Given the description of an element on the screen output the (x, y) to click on. 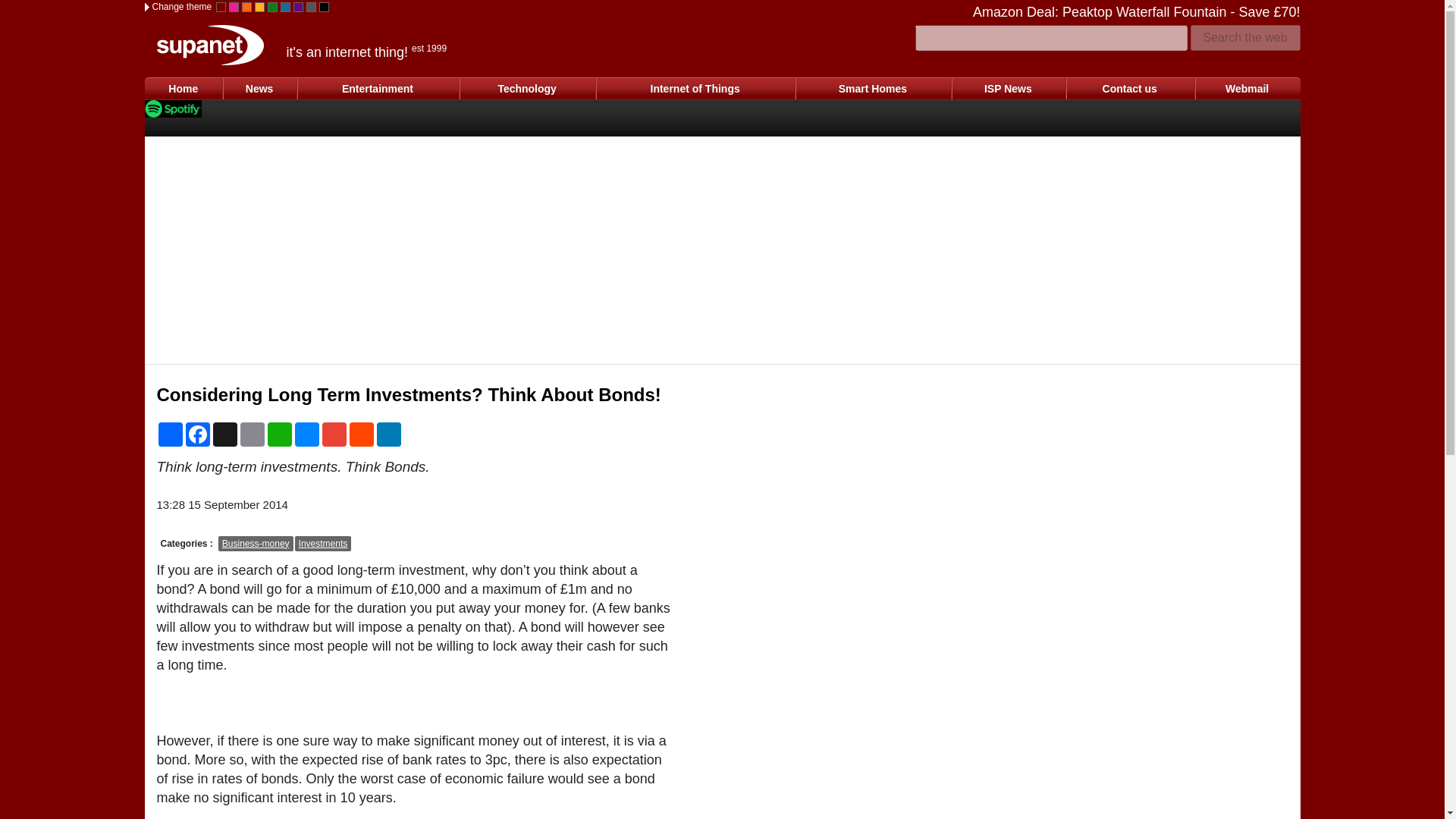
Smart Homes (872, 88)
Home (183, 88)
Supanet (209, 45)
Technology (526, 88)
ISP News (1007, 88)
Entertainment (377, 88)
Internet of Things (694, 88)
Search the web (1245, 37)
News (259, 88)
Webmail (1246, 88)
